Given the description of an element on the screen output the (x, y) to click on. 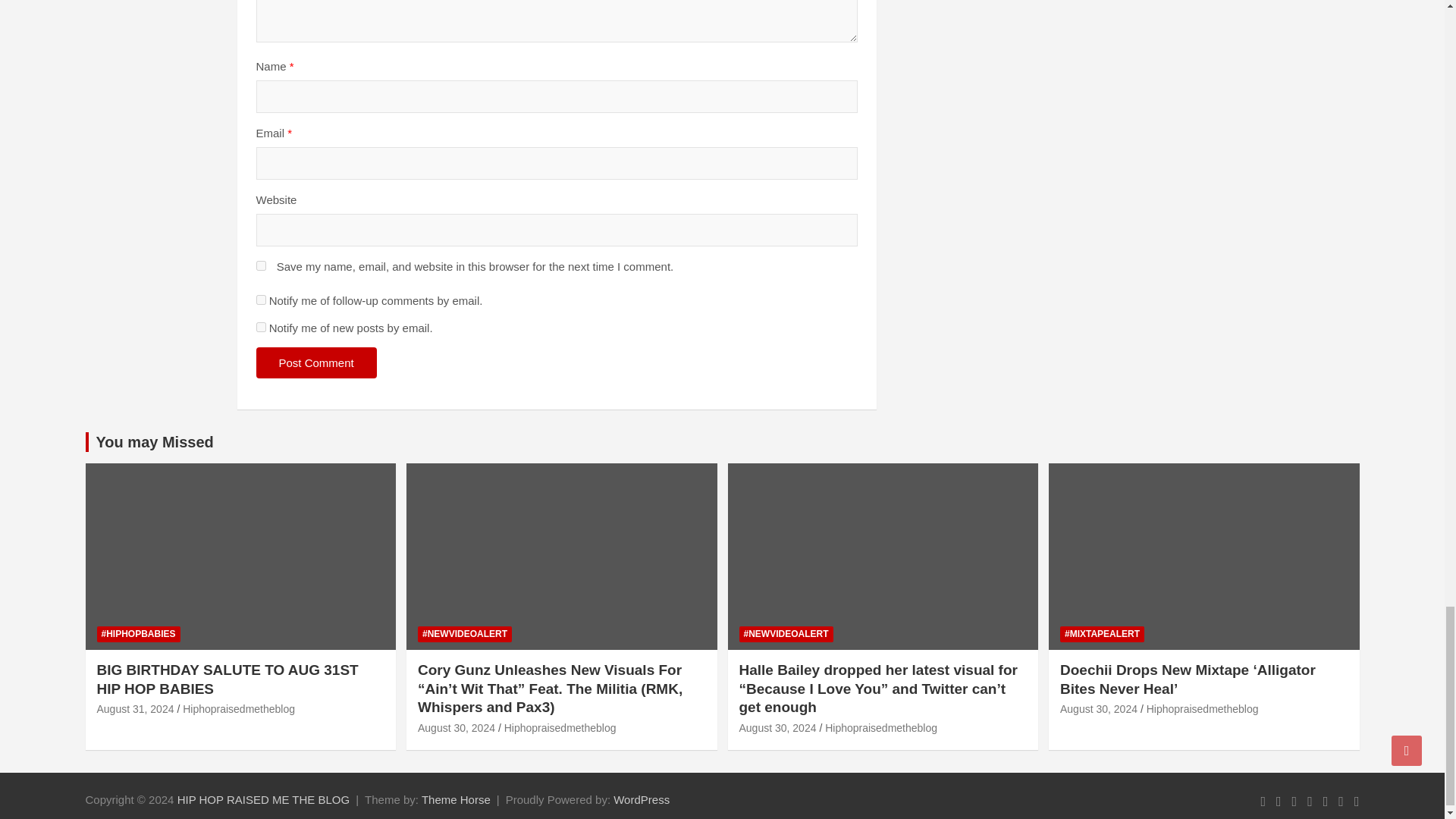
yes (261, 266)
BIG BIRTHDAY SALUTE TO AUG 31ST HIP HOP BABIES (135, 708)
subscribe (261, 327)
subscribe (261, 299)
Post Comment (316, 362)
